Given the description of an element on the screen output the (x, y) to click on. 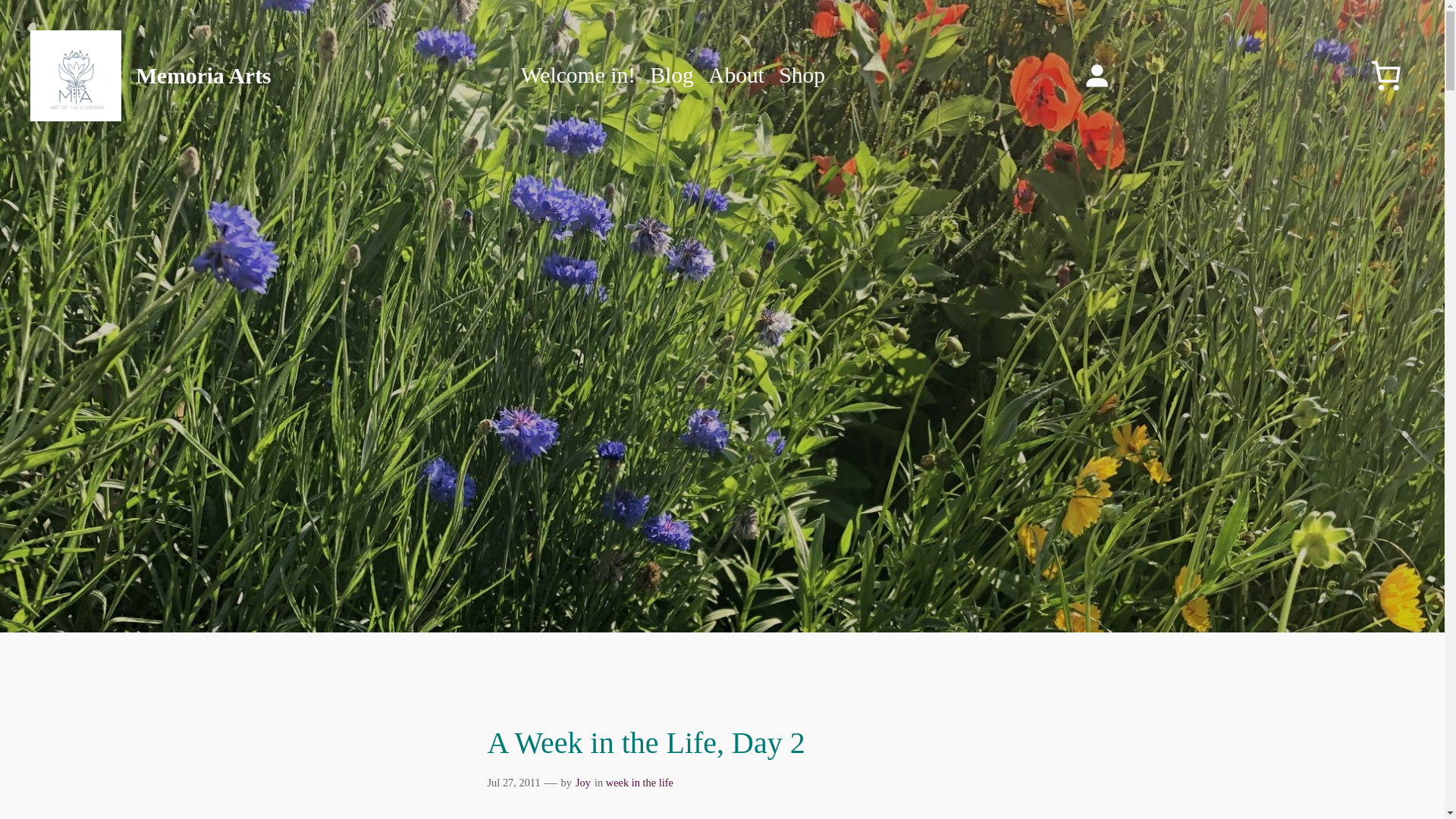
Blog (671, 75)
Memoria Arts (202, 75)
About (735, 75)
Shop (801, 75)
Welcome in! (577, 75)
Joy (583, 782)
week in the life (638, 782)
Jul 27, 2011 (513, 782)
